Given the description of an element on the screen output the (x, y) to click on. 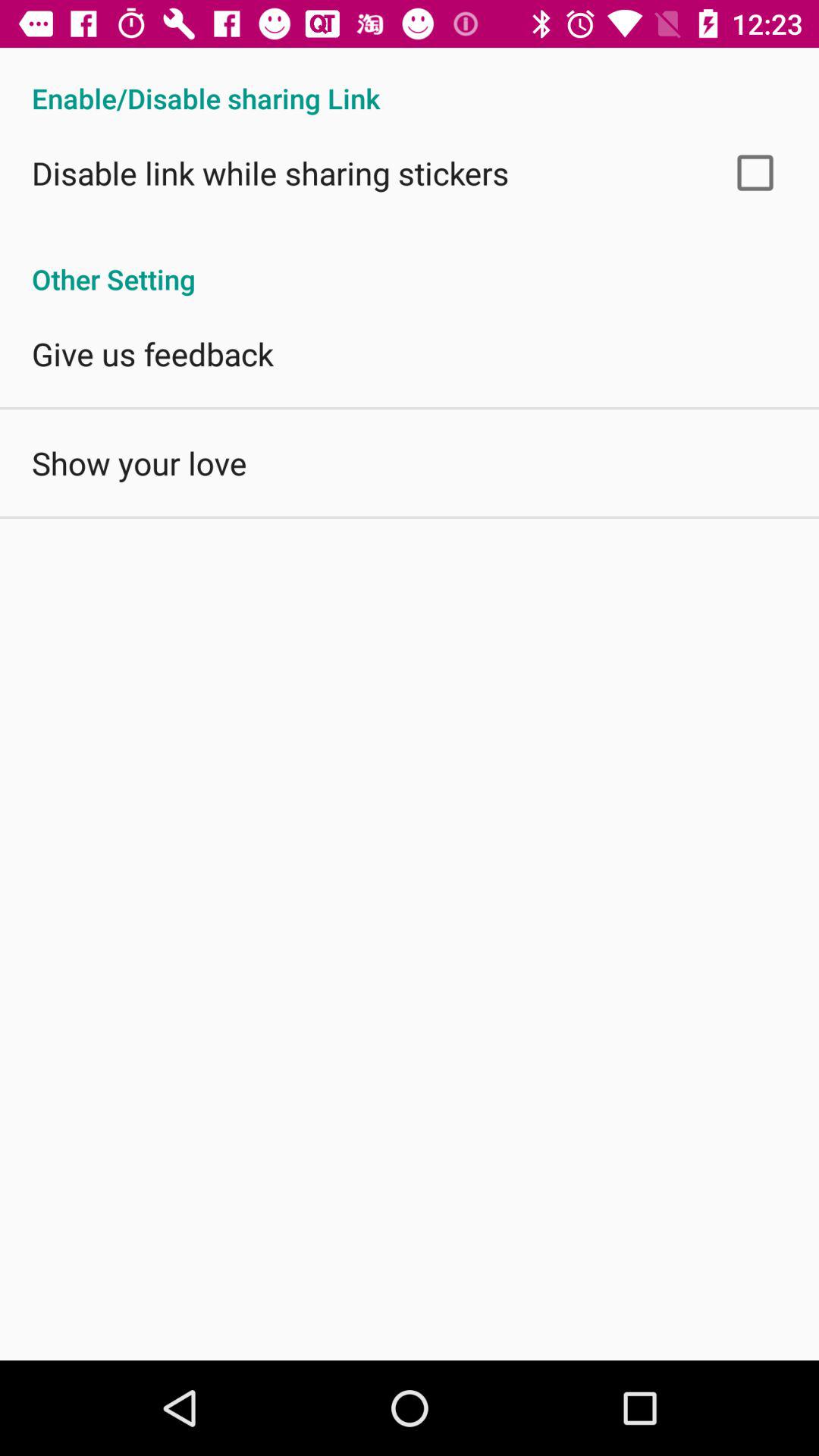
swipe until the give us feedback app (152, 353)
